Given the description of an element on the screen output the (x, y) to click on. 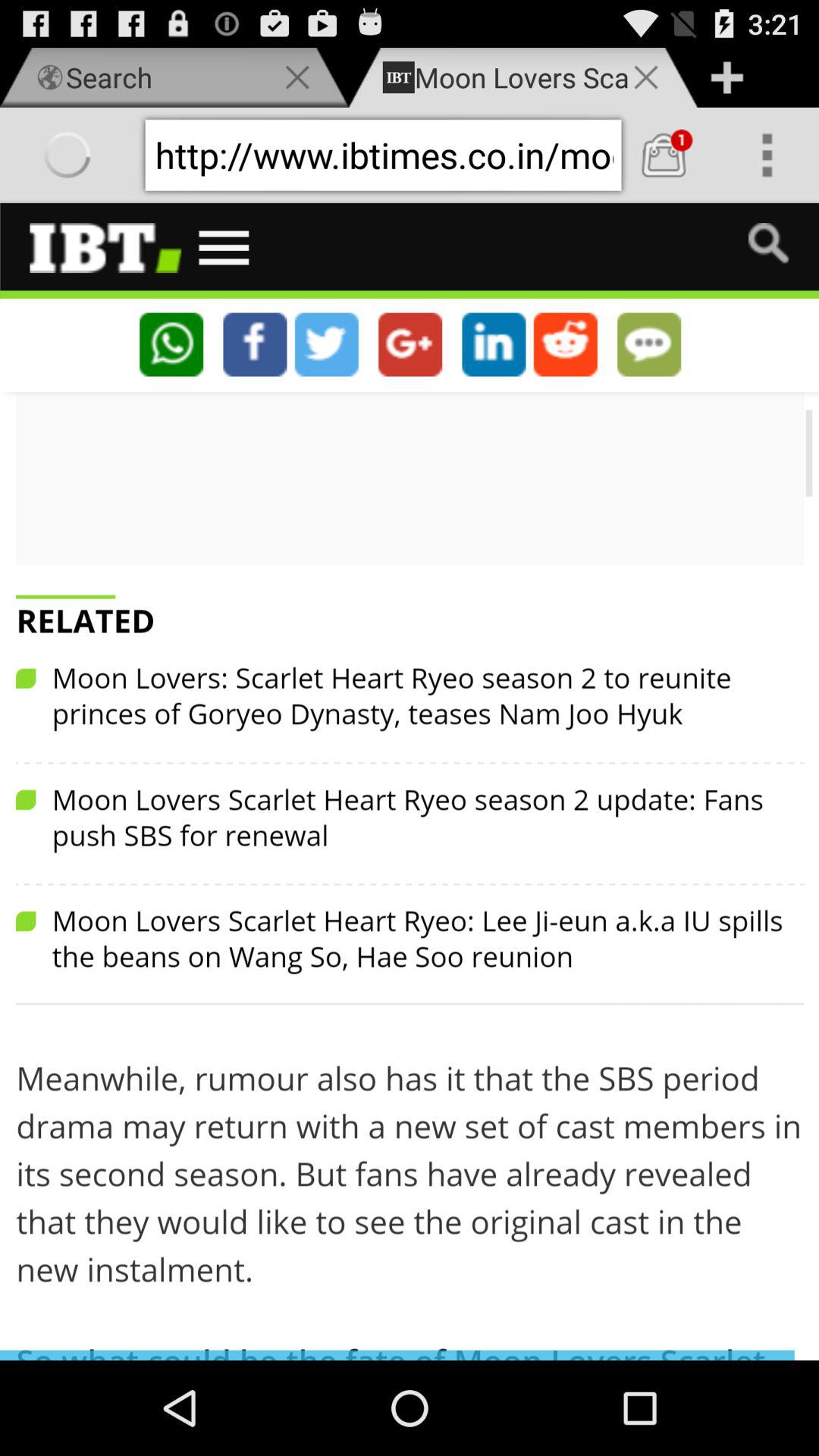
add button (727, 77)
